Given the description of an element on the screen output the (x, y) to click on. 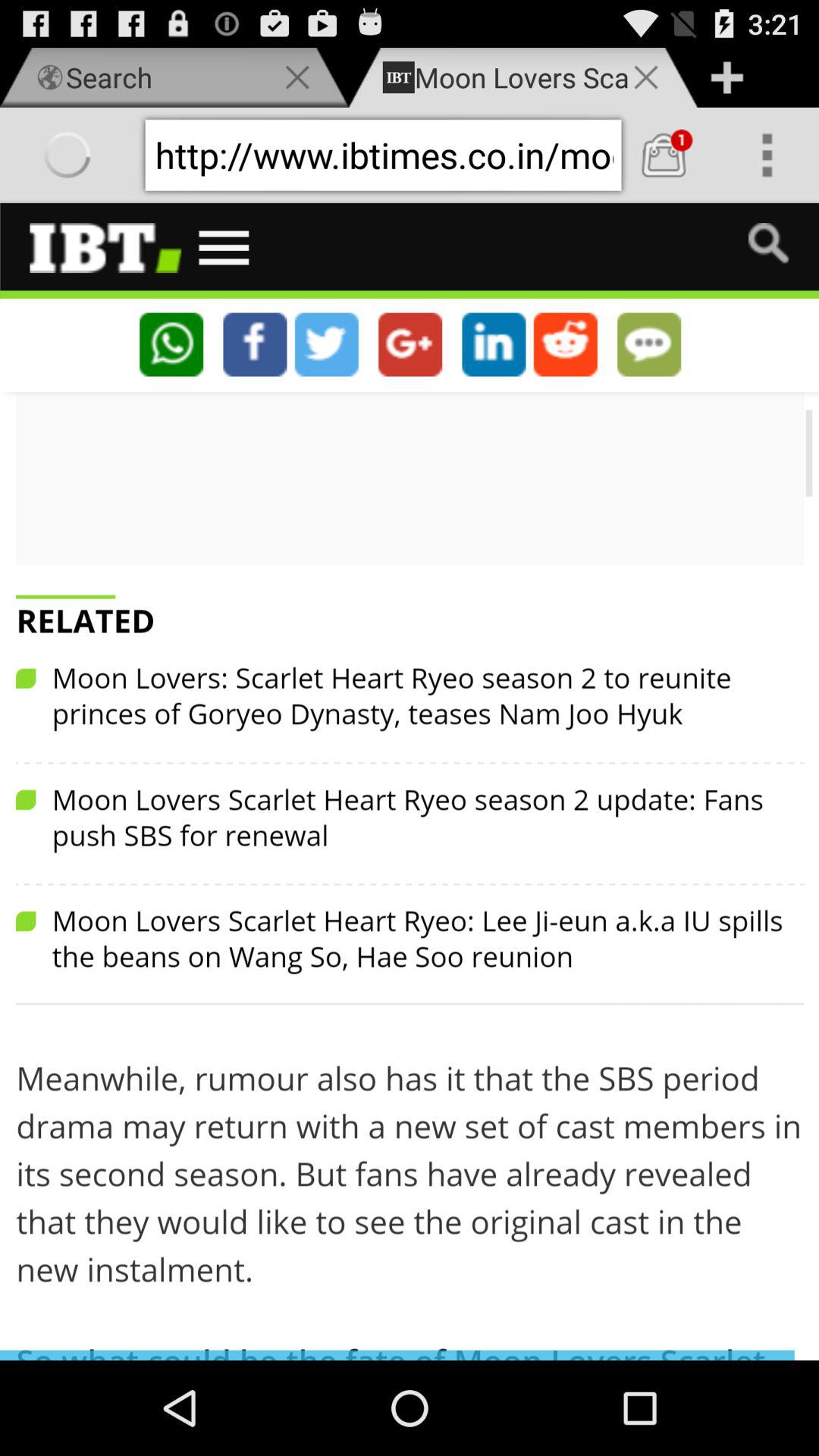
add button (727, 77)
